Given the description of an element on the screen output the (x, y) to click on. 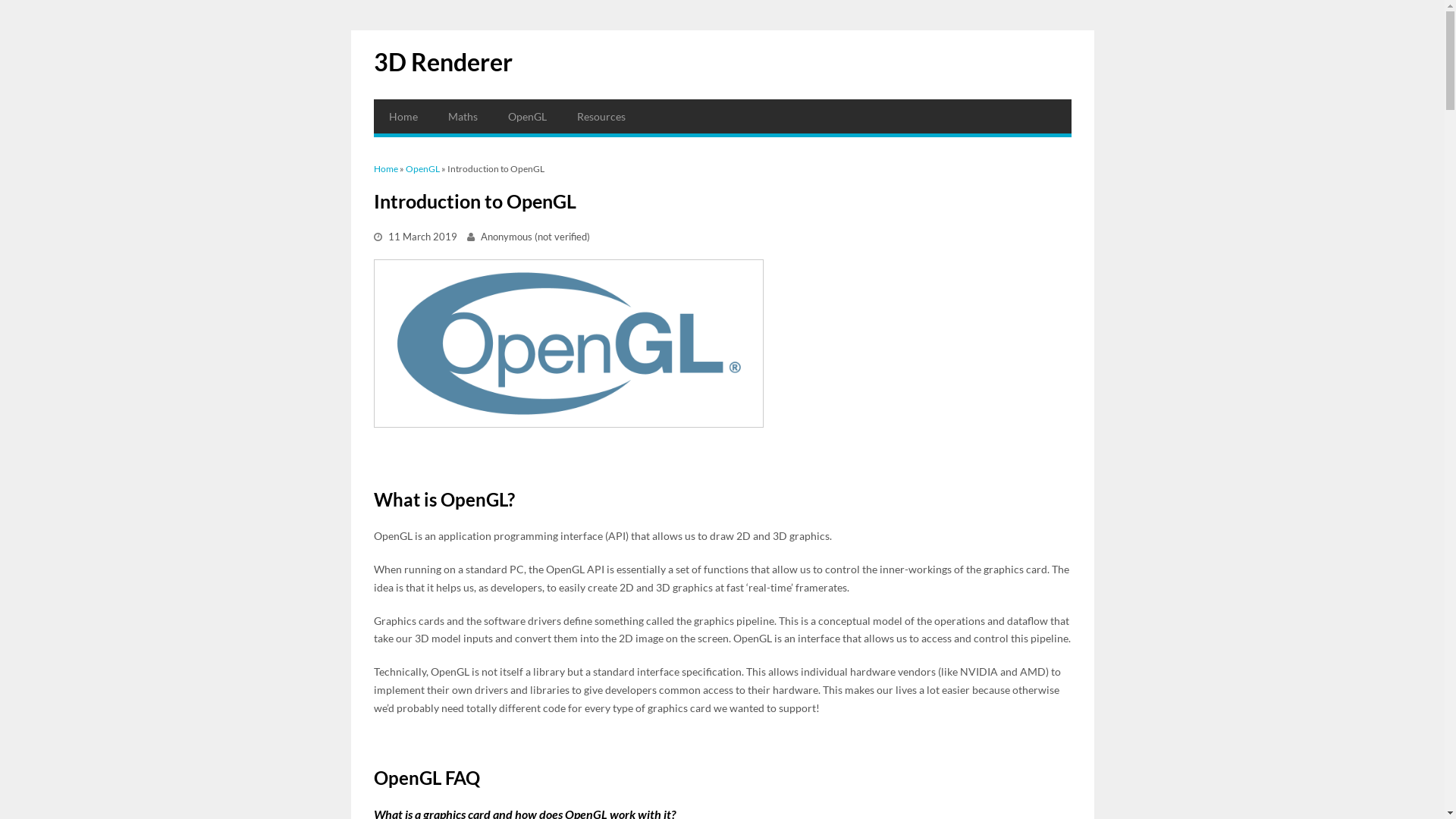
Maths Element type: text (462, 116)
OpenGL Element type: text (421, 168)
3D Renderer Element type: text (442, 61)
Home Element type: text (385, 168)
Resources Element type: text (600, 116)
OpenGL Element type: text (526, 116)
Home Element type: text (402, 116)
